Given the description of an element on the screen output the (x, y) to click on. 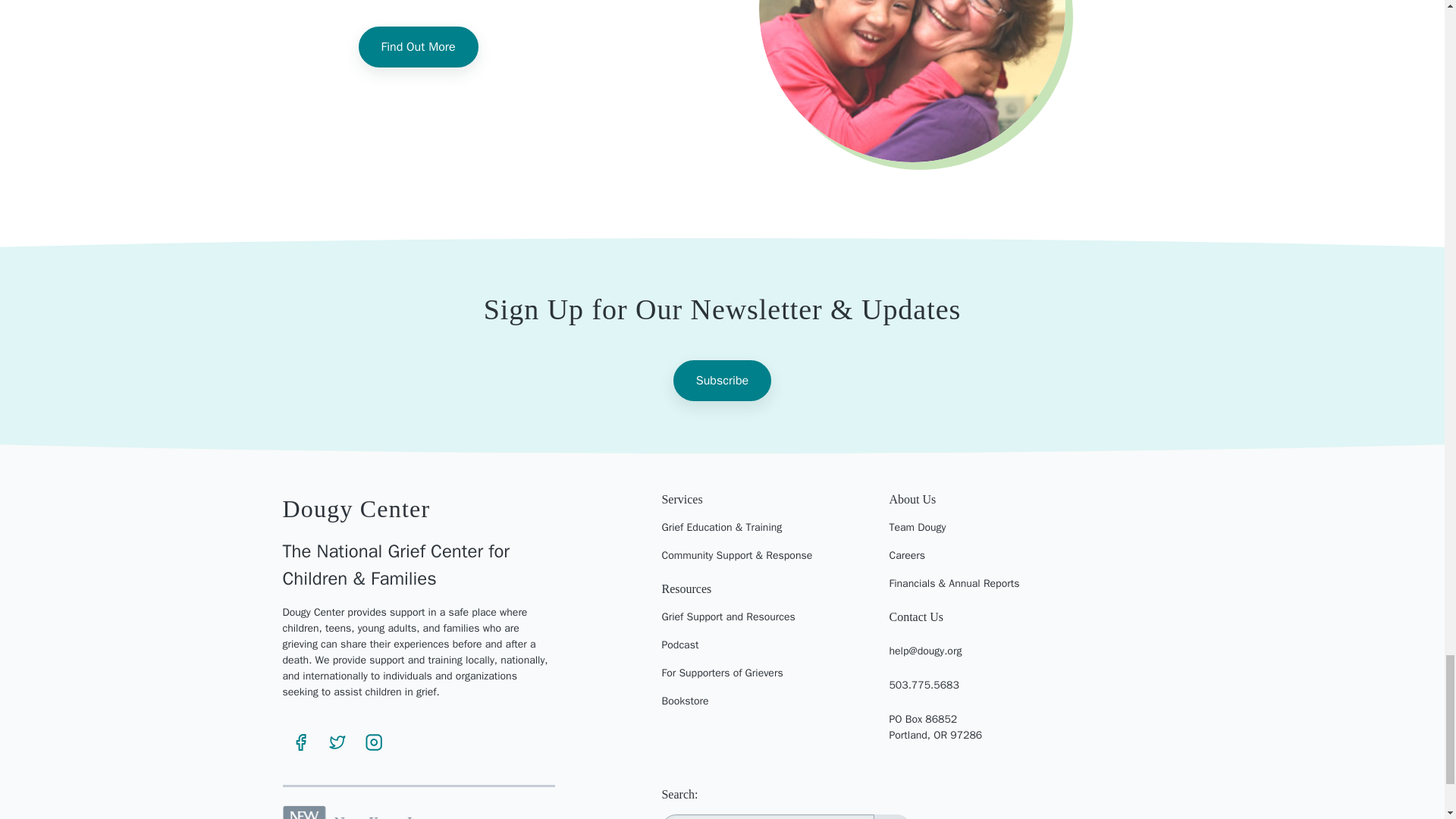
Photo hp 50 circle about the dougy center (911, 81)
